Given the description of an element on the screen output the (x, y) to click on. 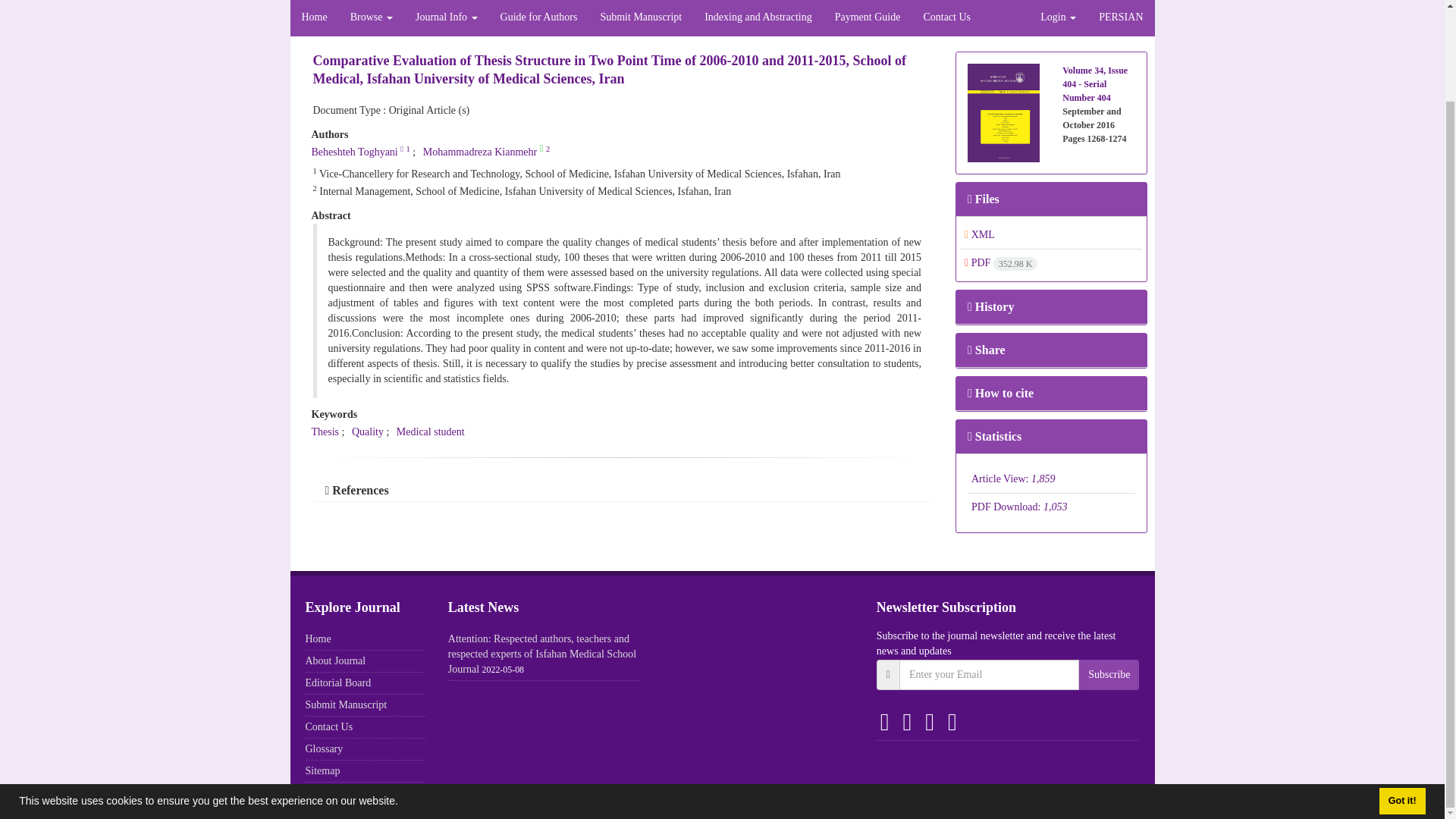
Indexing and Abstracting (758, 18)
Home (313, 18)
Guide for Authors (539, 18)
Browse (371, 18)
Journal Info (446, 18)
Beheshteh Toghyani (354, 152)
Quality (368, 431)
Thesis (325, 431)
Submit Manuscript (640, 18)
Mohammadreza Kianmehr (480, 152)
